Given the description of an element on the screen output the (x, y) to click on. 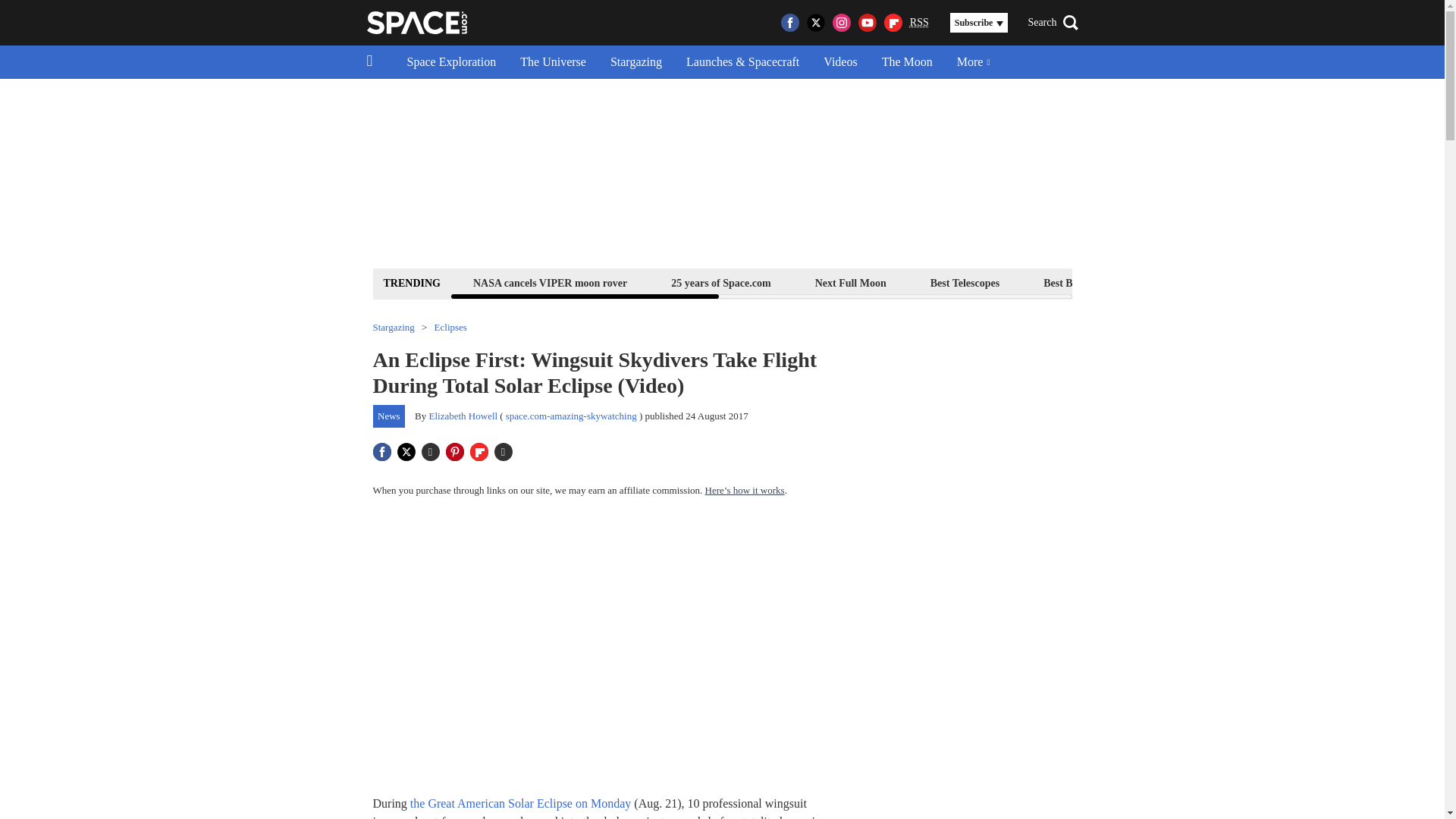
Stargazing (636, 61)
The Universe (553, 61)
Best Telescopes (964, 282)
Best Star Projectors (1204, 282)
Space Calendar (1329, 282)
Really Simple Syndication (919, 21)
25 years of Space.com (720, 282)
Videos (839, 61)
Best Binoculars (1078, 282)
The Moon (906, 61)
Space Exploration (451, 61)
RSS (919, 22)
Next Full Moon (850, 282)
NASA cancels VIPER moon rover (549, 282)
